Given the description of an element on the screen output the (x, y) to click on. 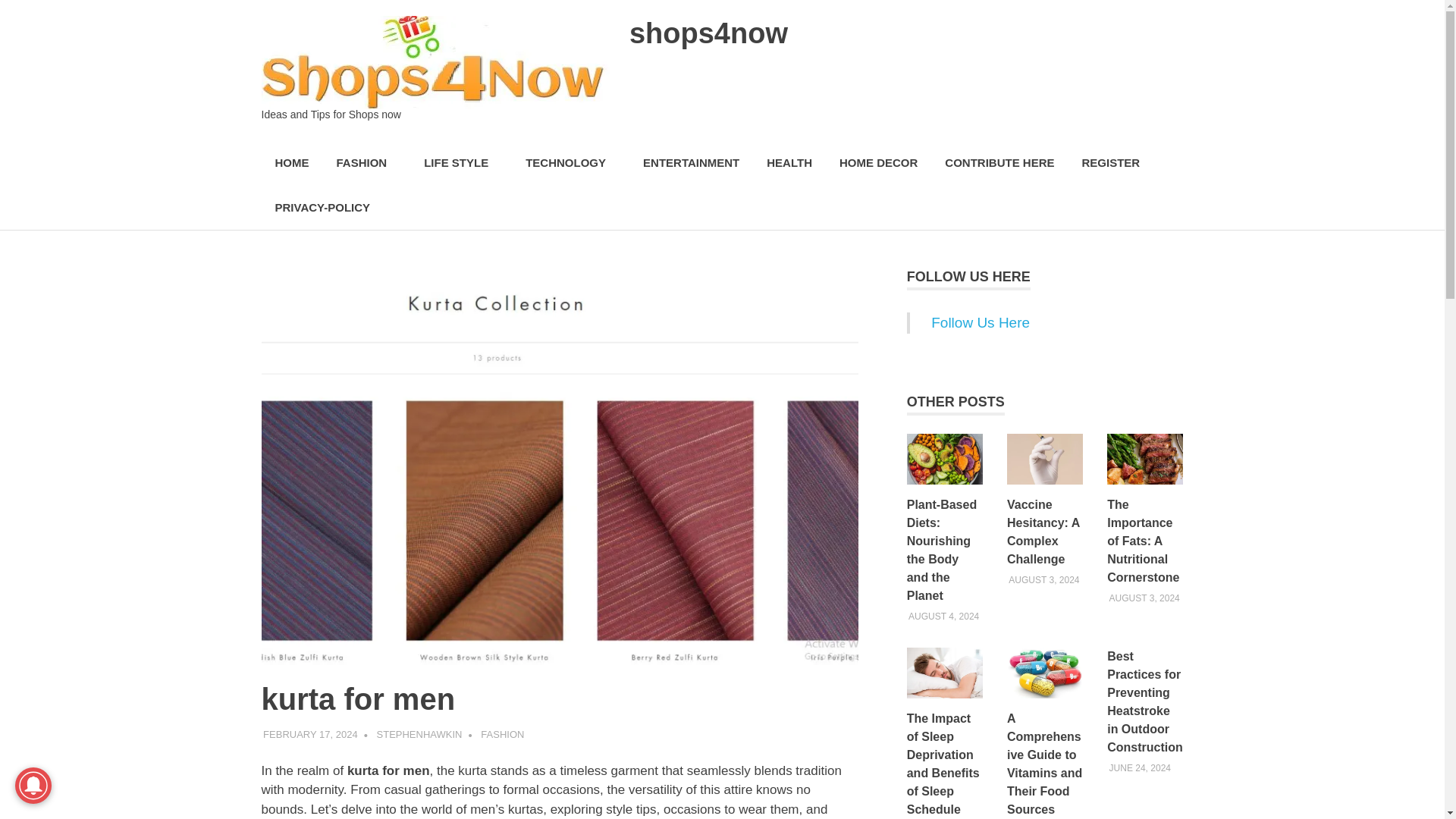
LIFE STYLE (461, 162)
REGISTER (1110, 162)
PRIVACY-POLICY (322, 207)
CONTRIBUTE HERE (999, 162)
shops4now (707, 33)
HOME (290, 162)
TECHNOLOGY (570, 162)
View all posts by stephenhawkin (420, 734)
FASHION (366, 162)
HOME DECOR (878, 162)
